Given the description of an element on the screen output the (x, y) to click on. 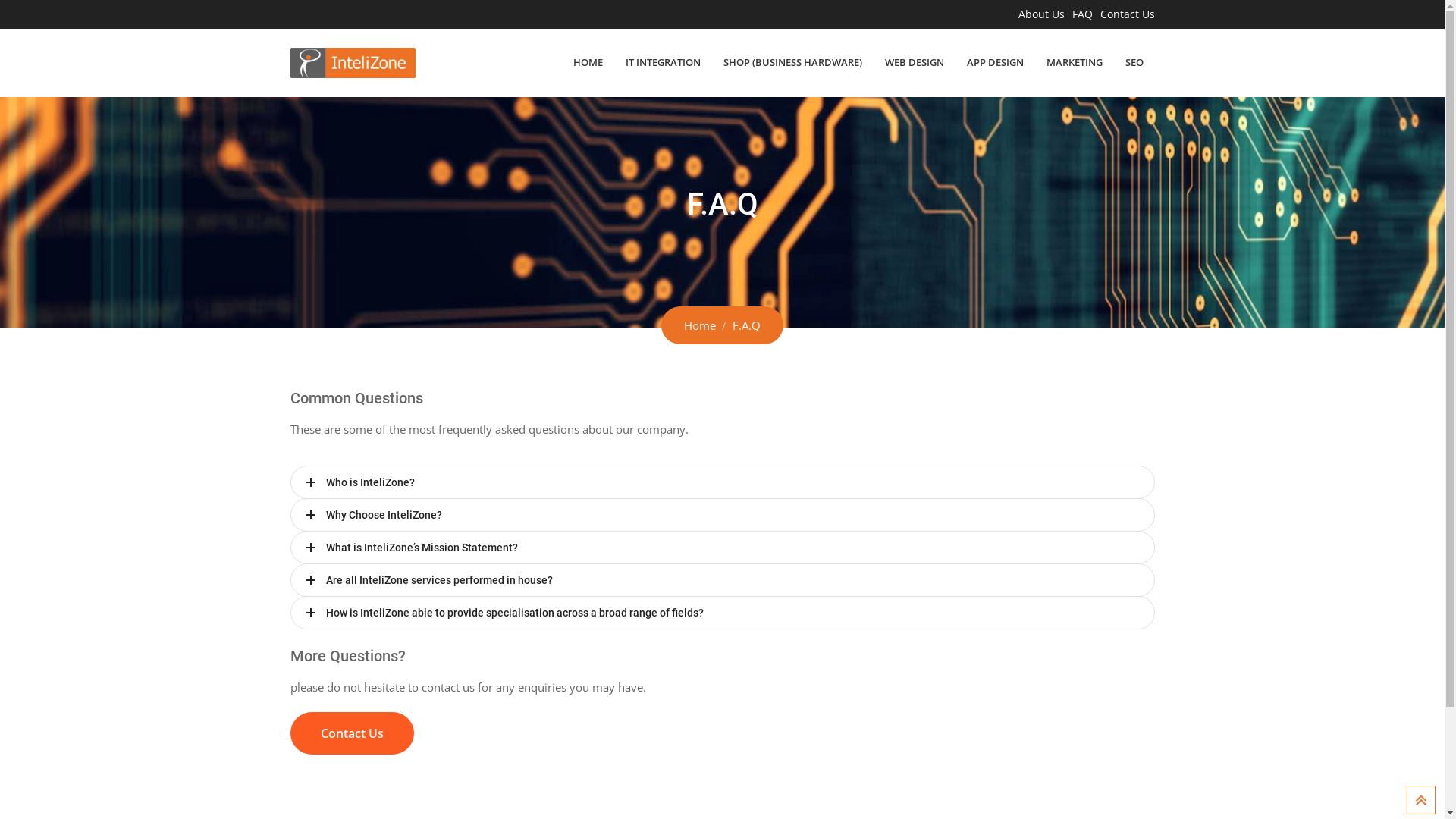
WEB DESIGN Element type: text (914, 62)
FAQ Element type: text (1082, 14)
HOME Element type: text (587, 62)
APP DESIGN Element type: text (995, 62)
Contact Us Element type: text (1126, 14)
About Us Element type: text (1040, 14)
Are all InteliZone services performed in house? Element type: text (721, 579)
Skip to content Element type: text (0, 0)
IT INTEGRATION Element type: text (663, 62)
Who is InteliZone? Element type: text (721, 481)
SEO Element type: text (1133, 62)
Home Element type: text (699, 324)
MARKETING Element type: text (1073, 62)
Why Choose InteliZone? Element type: text (721, 514)
SHOP (BUSINESS HARDWARE) Element type: text (791, 62)
Contact Us Element type: text (351, 733)
